Given the description of an element on the screen output the (x, y) to click on. 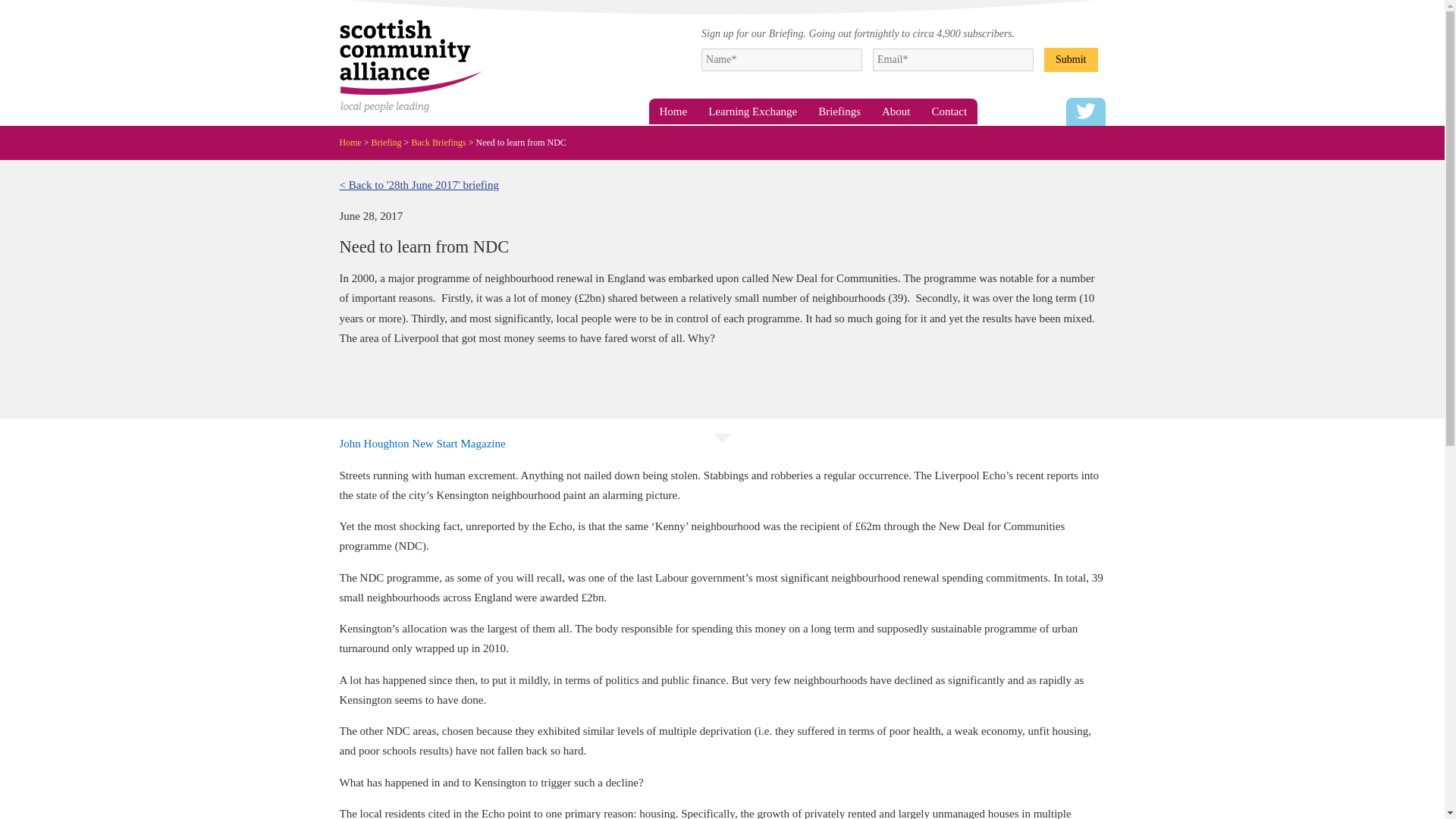
Submit (1070, 58)
Briefings (839, 111)
Briefing (391, 141)
Learning Exchange (752, 111)
Back Briefings (443, 141)
Home (355, 141)
Go to Briefing. (391, 141)
About (895, 111)
Submit (1070, 58)
Contact (949, 111)
Go to Back Briefings. (443, 141)
Go to Scottish Community Alliance. (355, 141)
Home (673, 111)
